Given the description of an element on the screen output the (x, y) to click on. 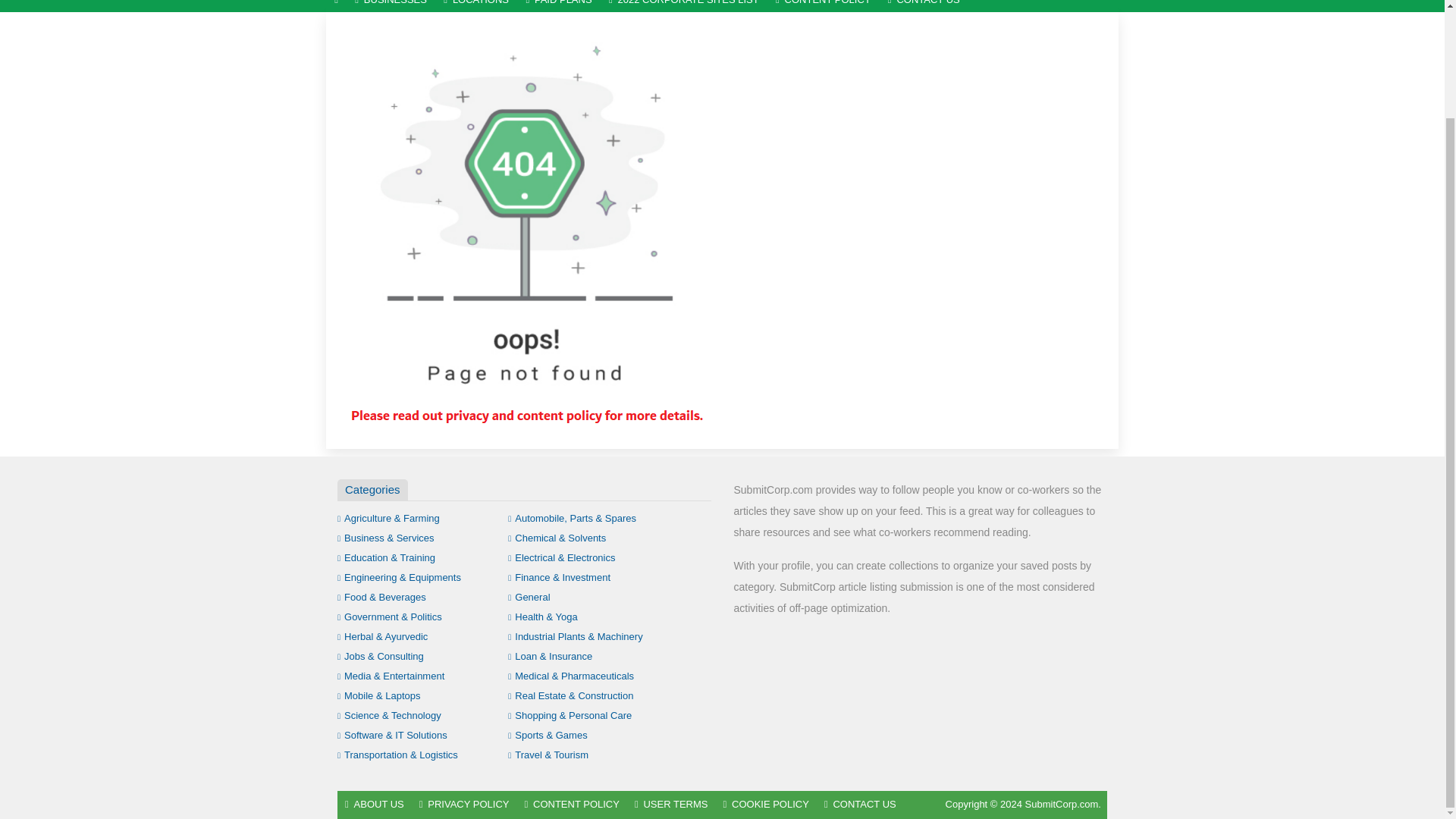
CONTENT POLICY (823, 6)
General (529, 596)
LOCATIONS (475, 6)
PAID PLANS (557, 6)
HOME (336, 6)
BUSINESSES (390, 6)
2022 CORPORATE SITES LIST (683, 6)
CONTACT US (923, 6)
